Given the description of an element on the screen output the (x, y) to click on. 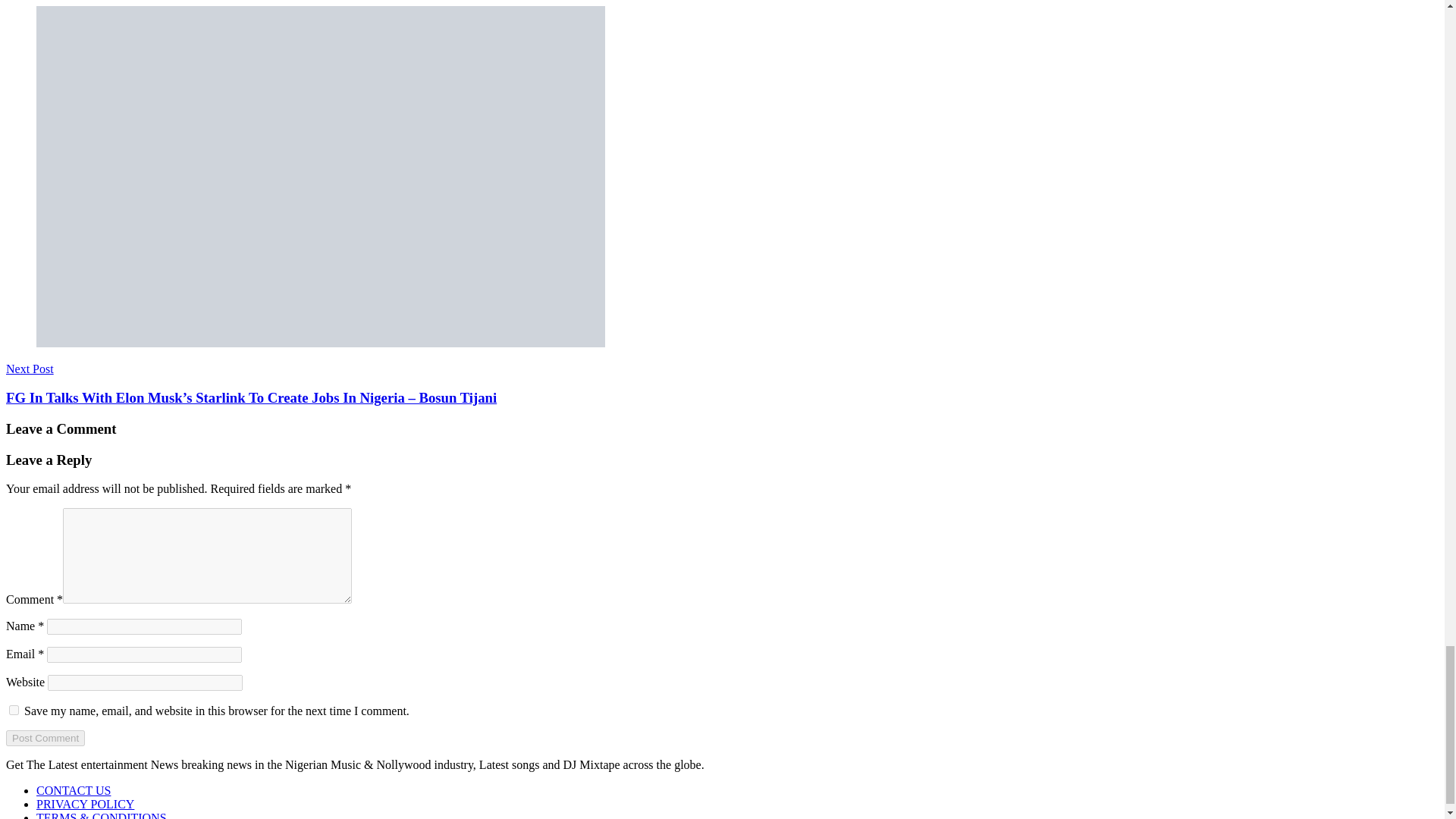
yes (13, 709)
Post Comment (44, 738)
